Given the description of an element on the screen output the (x, y) to click on. 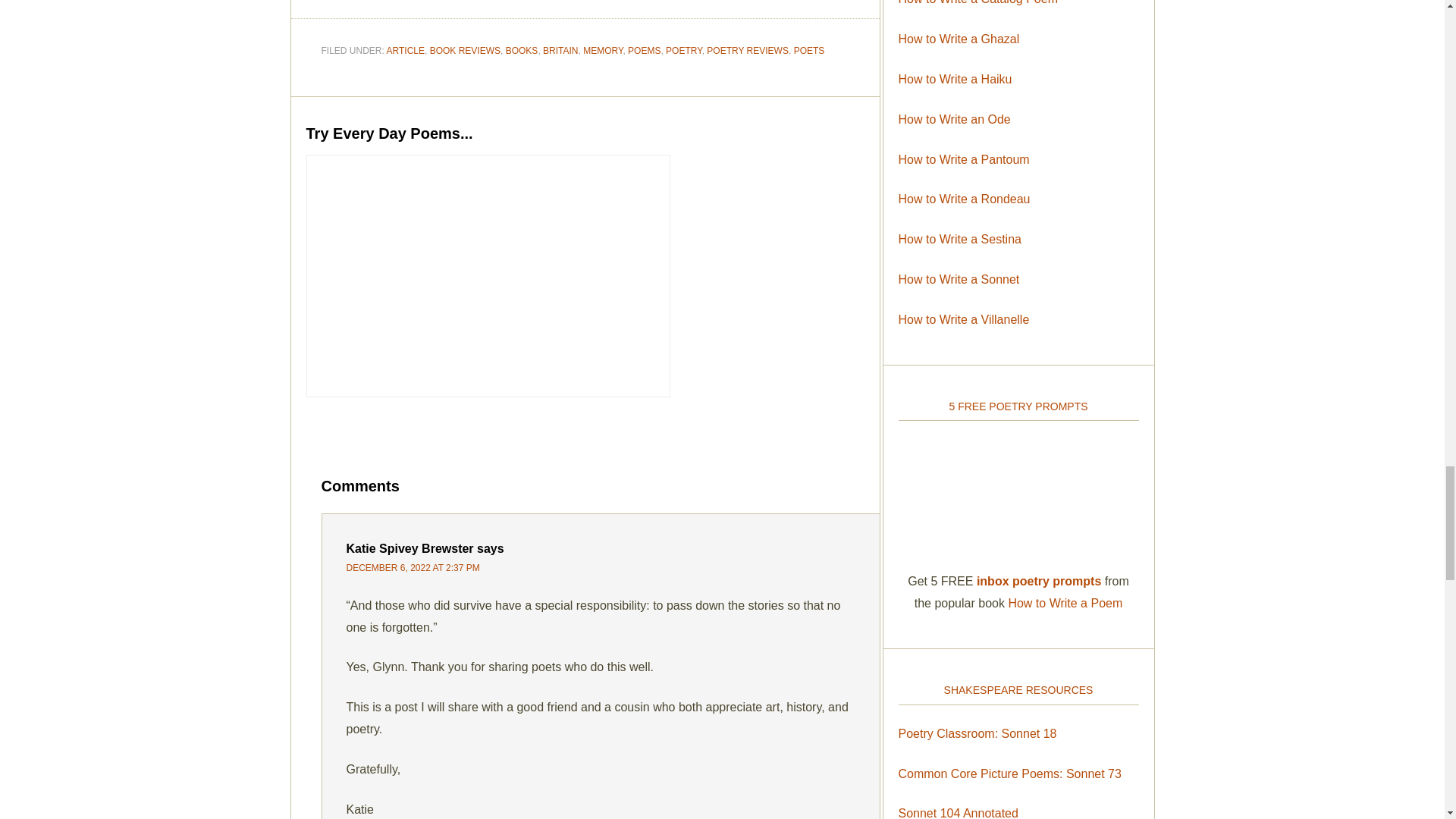
ARTICLE (406, 50)
BOOKS (521, 50)
BOOK REVIEWS (464, 50)
